Given the description of an element on the screen output the (x, y) to click on. 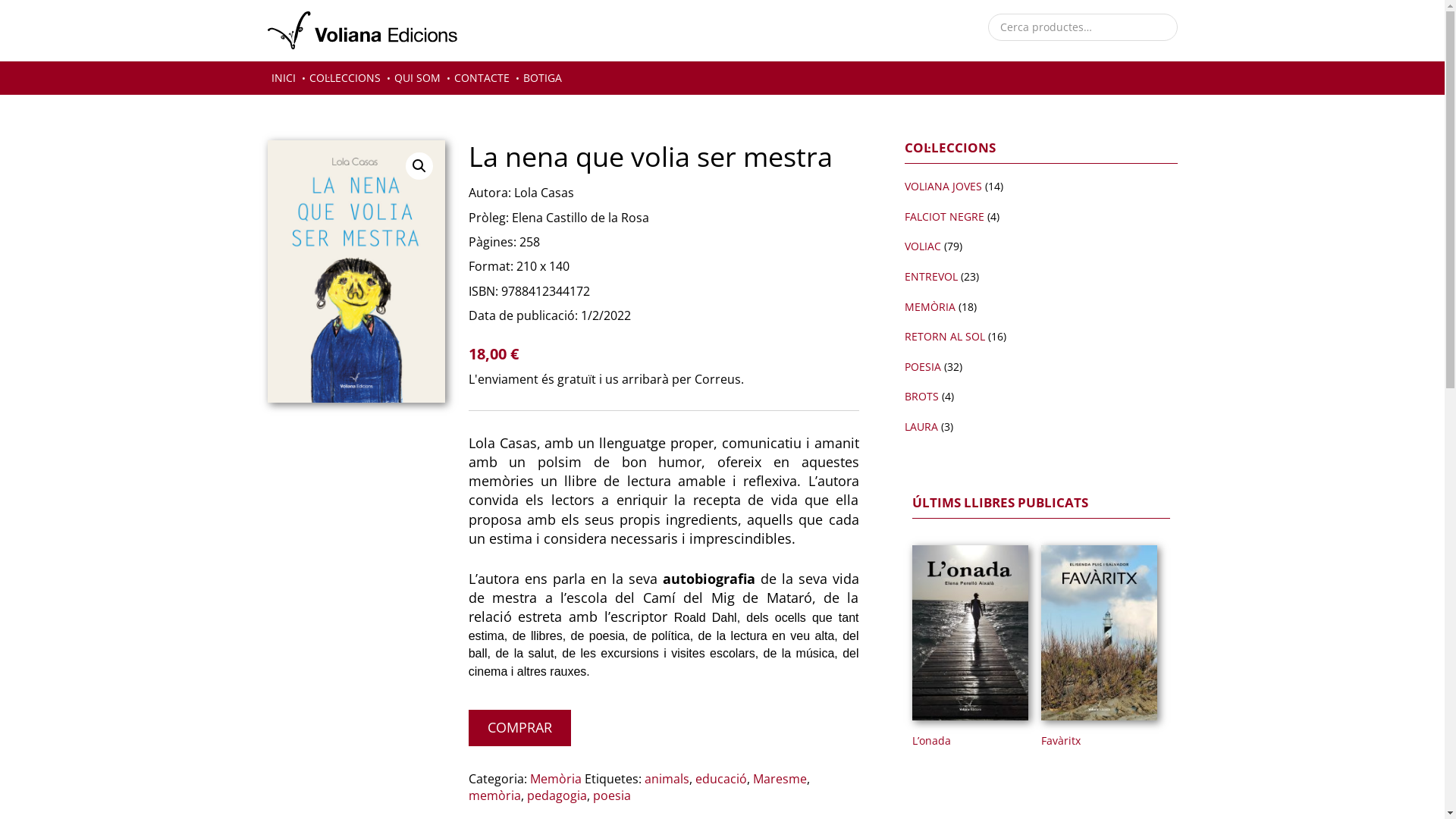
La nena que volia ser mestra Element type: hover (355, 271)
BOTIGA Element type: text (541, 77)
ENTREVOL Element type: text (930, 276)
Skip to primary navigation Element type: text (0, 0)
poesia Element type: text (611, 795)
Cerca Element type: text (29, 19)
FALCIOT NEGRE Element type: text (943, 216)
QUI SOM Element type: text (416, 77)
VOLIANA JOVES Element type: text (942, 185)
COMPRAR Element type: text (519, 727)
animals Element type: text (666, 778)
RETORN AL SOL Element type: text (943, 336)
Maresme Element type: text (779, 778)
POESIA Element type: text (921, 366)
pedagogia Element type: text (556, 795)
INICI Element type: text (282, 77)
LAURA Element type: text (920, 426)
BROTS Element type: text (920, 396)
VOLIAC Element type: text (921, 245)
CONTACTE Element type: text (481, 77)
Voliana edicions Element type: text (361, 30)
